Given the description of an element on the screen output the (x, y) to click on. 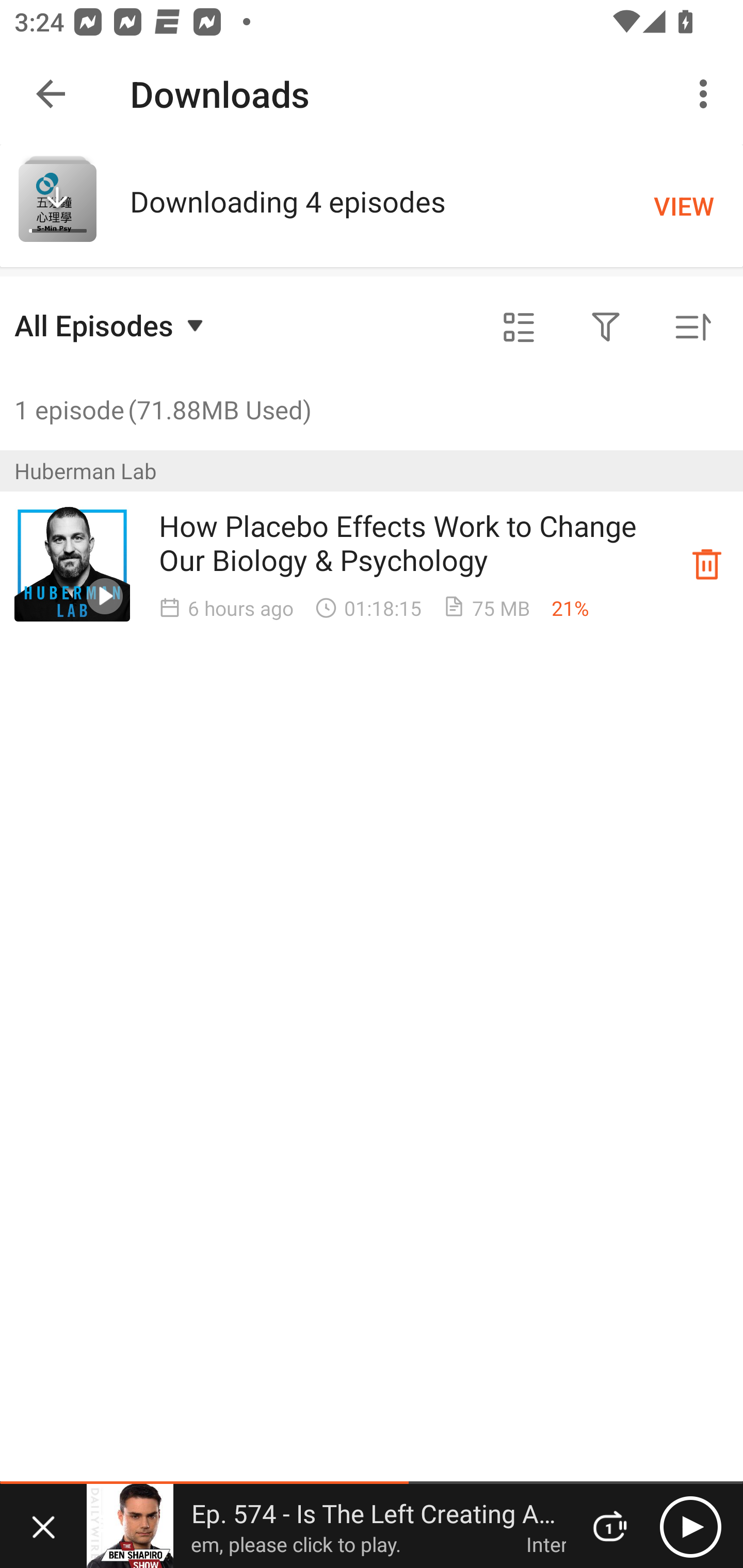
Navigate up (50, 93)
More options (706, 93)
5.0 Downloading 4 episodes VIEW (371, 205)
All Episodes (111, 325)
 (518, 327)
 (605, 327)
 Sorted by oldest first (692, 327)
Downloaded (706, 563)
Play (690, 1526)
